Given the description of an element on the screen output the (x, y) to click on. 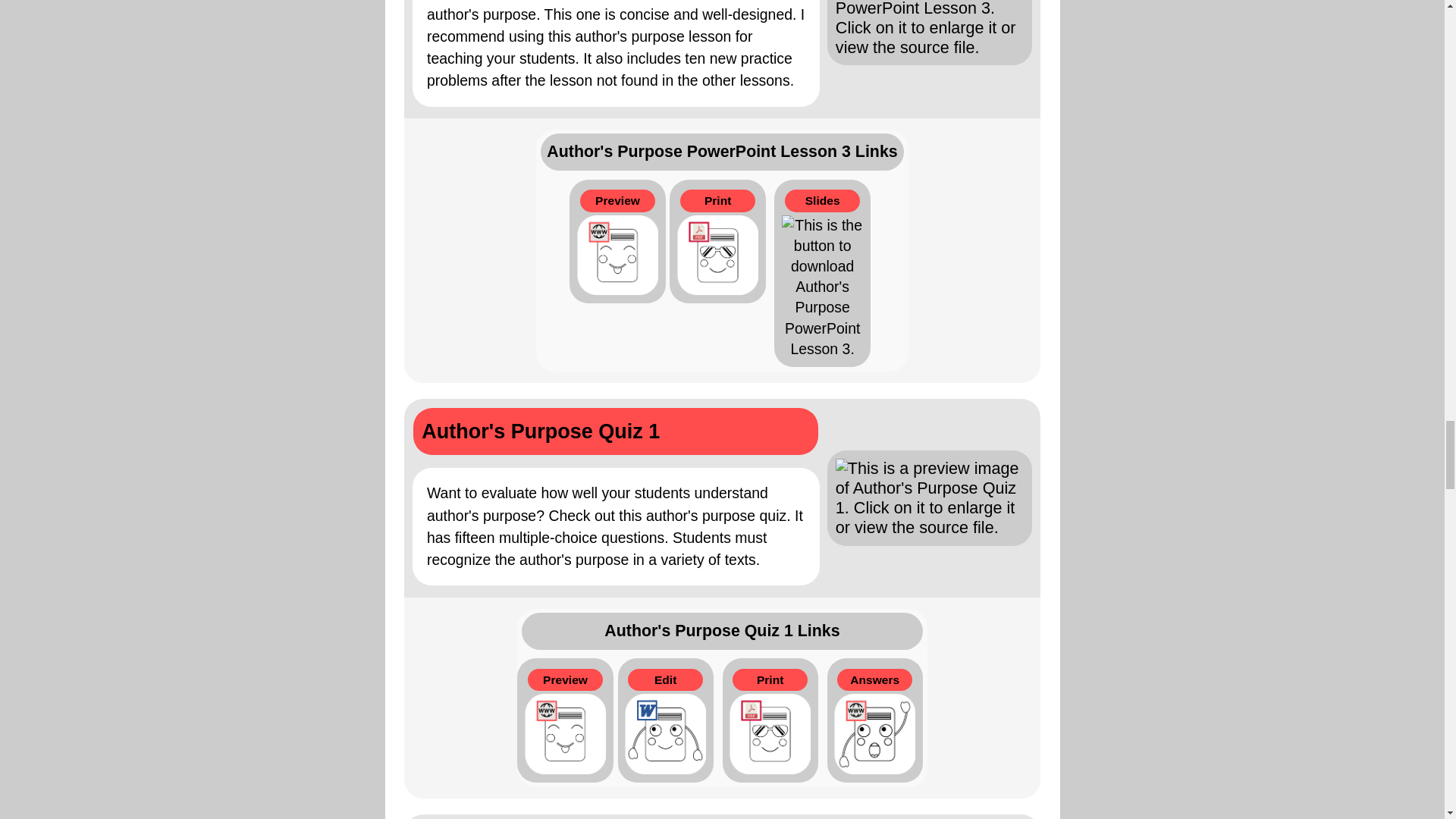
Author's Purpose Quiz 1 (722, 497)
Author's Purpose PowerPoint Lesson 3 (722, 58)
